Given the description of an element on the screen output the (x, y) to click on. 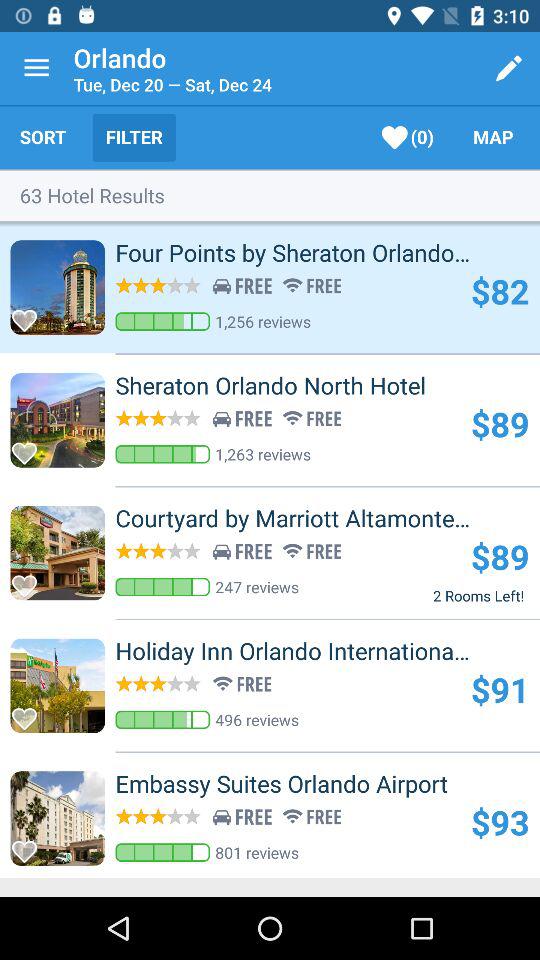
select $91 item (500, 689)
